Given the description of an element on the screen output the (x, y) to click on. 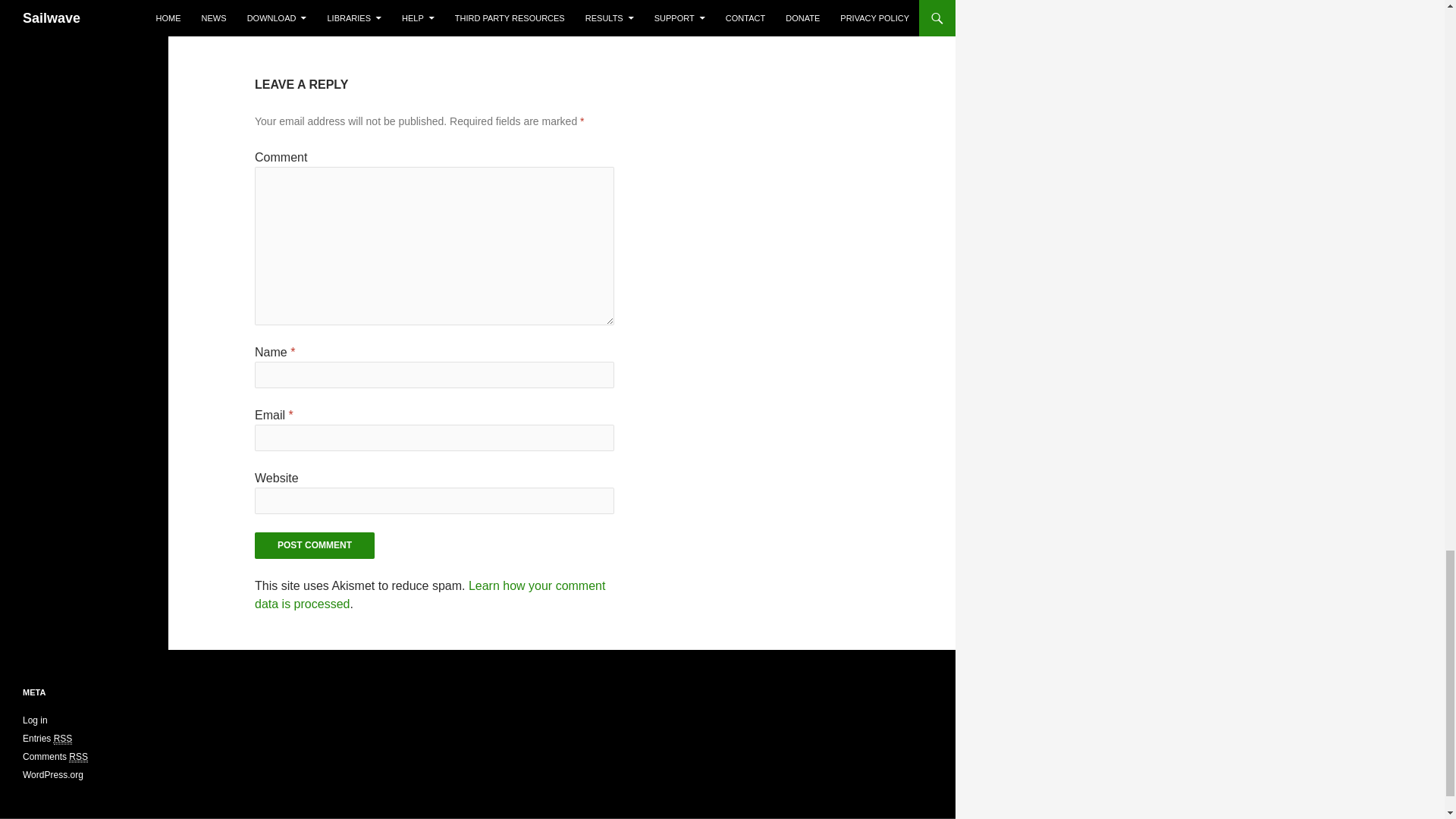
Post Comment (314, 545)
Really Simple Syndication (62, 738)
Really Simple Syndication (77, 756)
